Given the description of an element on the screen output the (x, y) to click on. 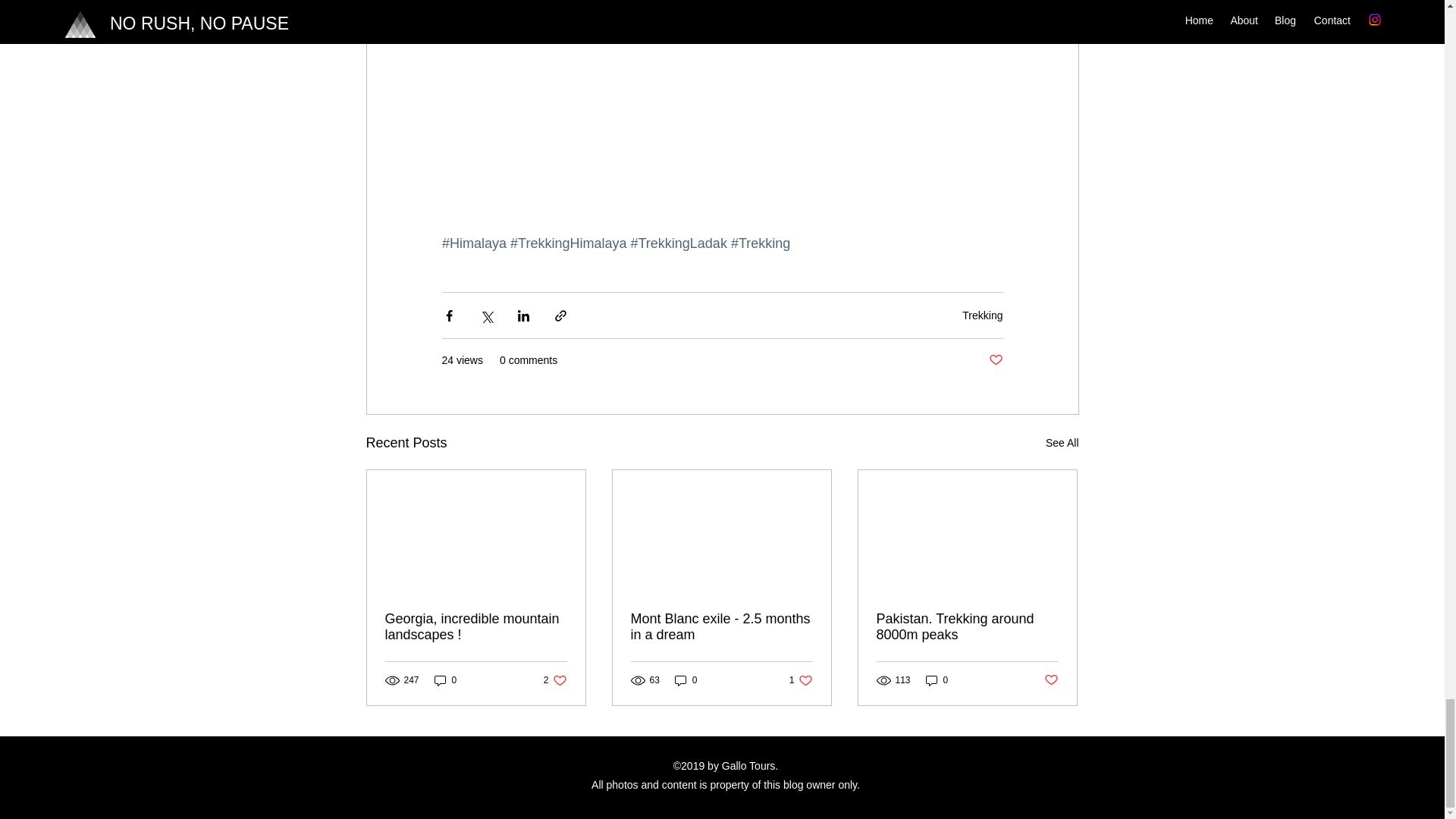
Mont Blanc exile - 2.5 months in a dream (800, 680)
Pakistan. Trekking around 8000m peaks (721, 626)
0 (967, 626)
Trekking (555, 680)
Post not marked as liked (937, 680)
See All (982, 315)
Post not marked as liked (1050, 680)
0 (1061, 443)
0 (995, 360)
Georgia, incredible mountain landscapes ! (445, 680)
